Given the description of an element on the screen output the (x, y) to click on. 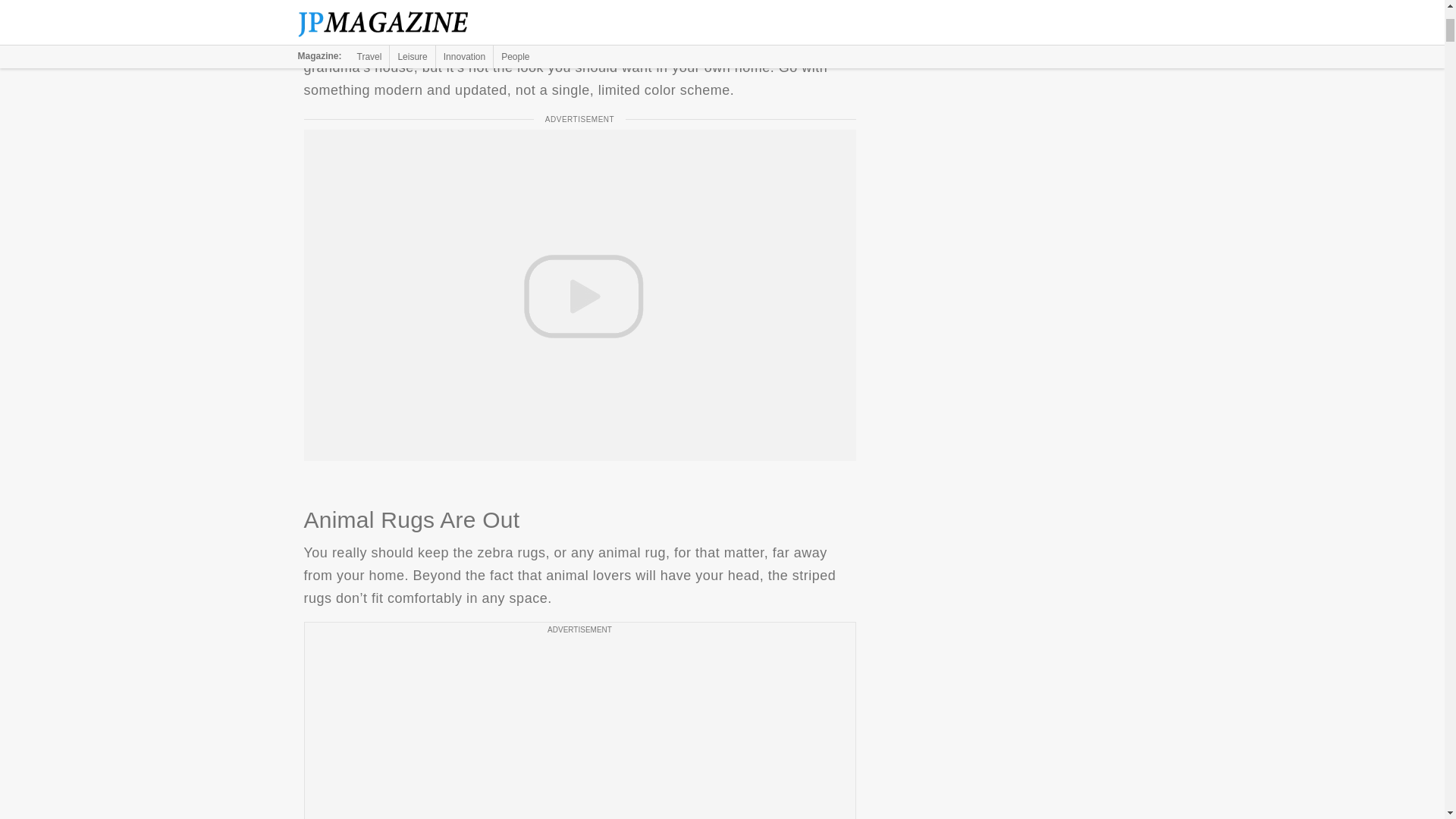
They're Not Twins (579, 3)
